Given the description of an element on the screen output the (x, y) to click on. 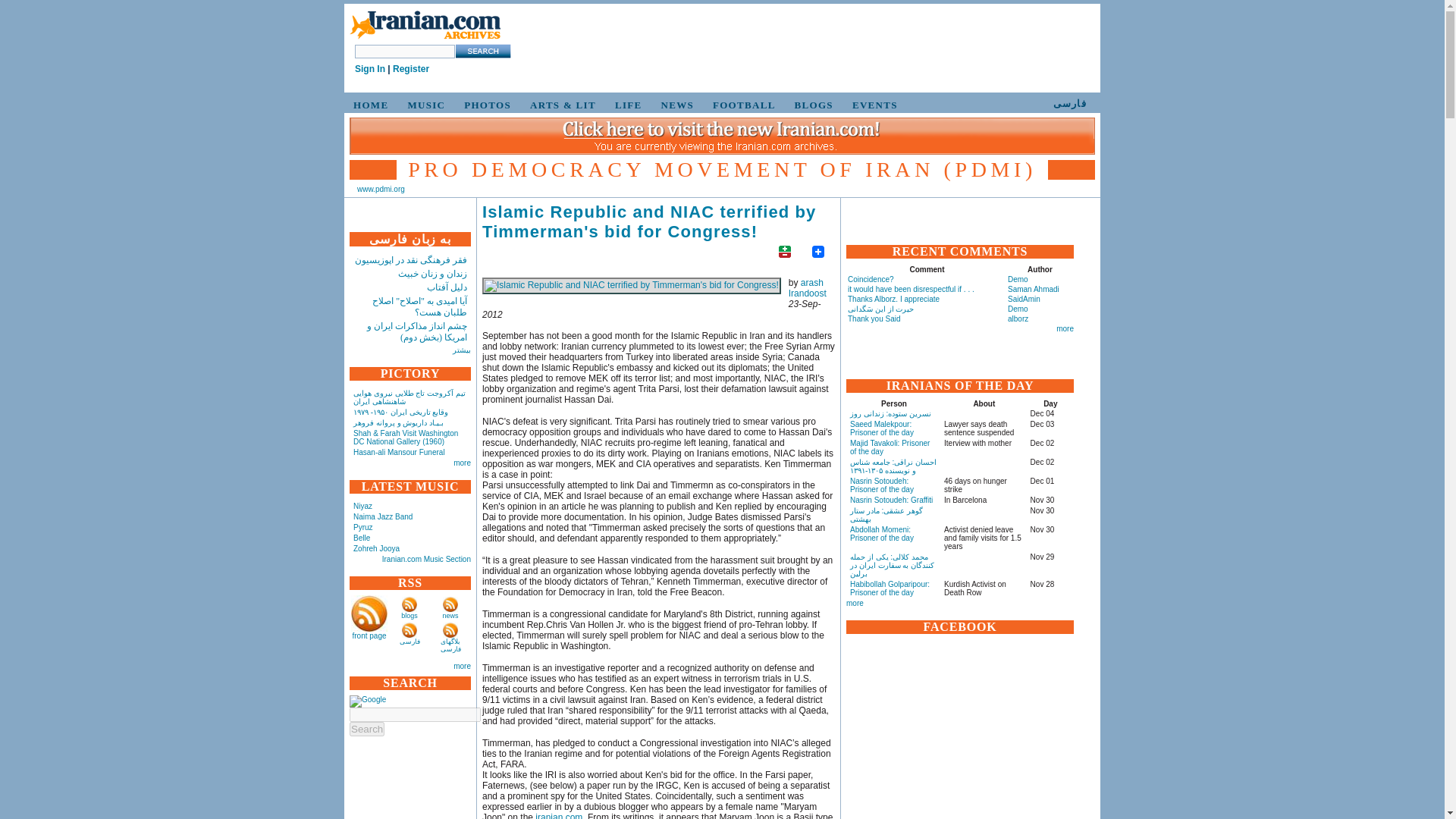
Belle (361, 537)
BLOGS (812, 105)
iranian.com (558, 815)
LIFE (625, 105)
Zohreh Jooya (375, 548)
MUSIC (423, 105)
Home (424, 25)
news (450, 615)
Naima Jazz Band (382, 516)
